Given the description of an element on the screen output the (x, y) to click on. 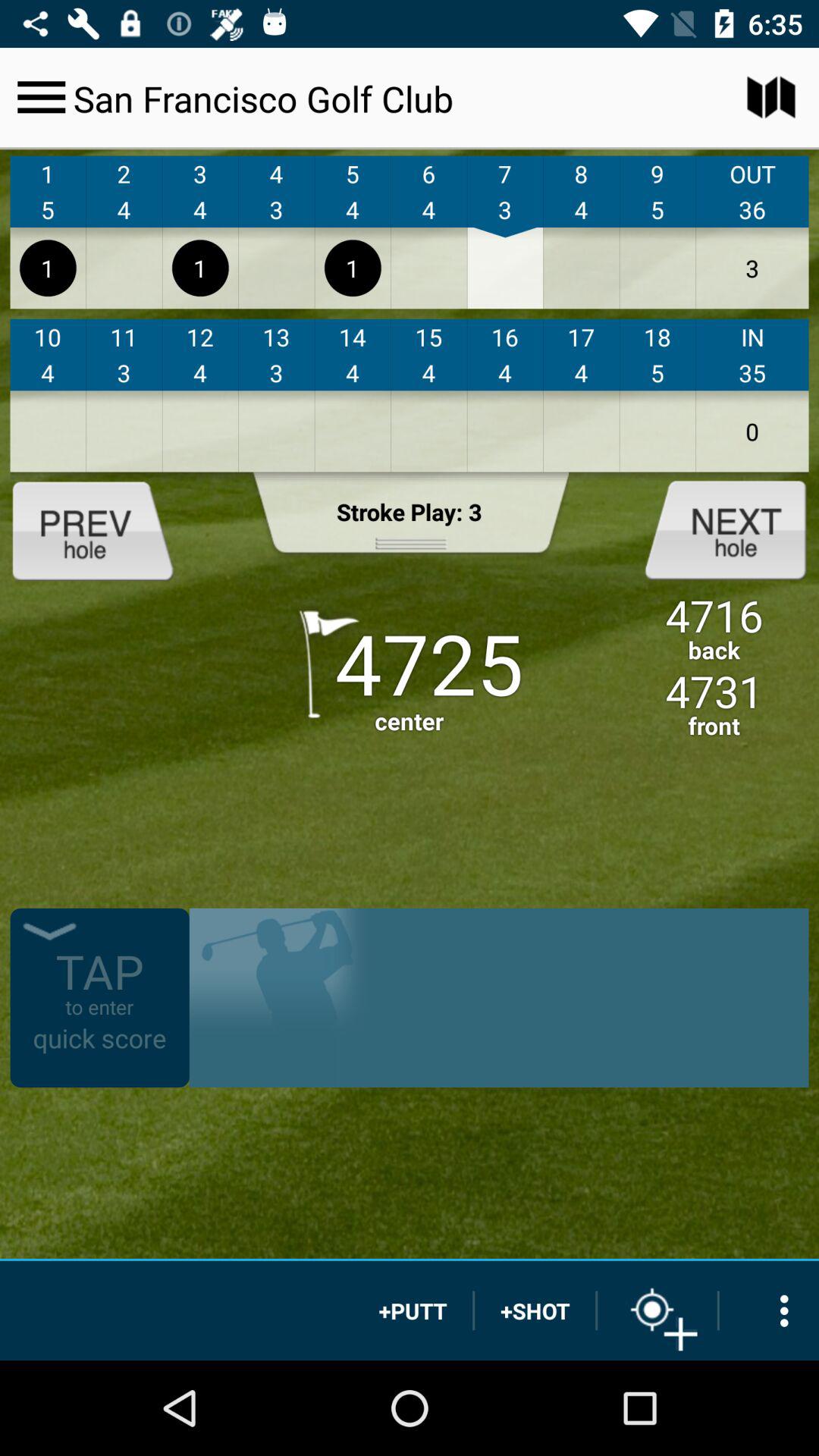
menu (41, 97)
